Given the description of an element on the screen output the (x, y) to click on. 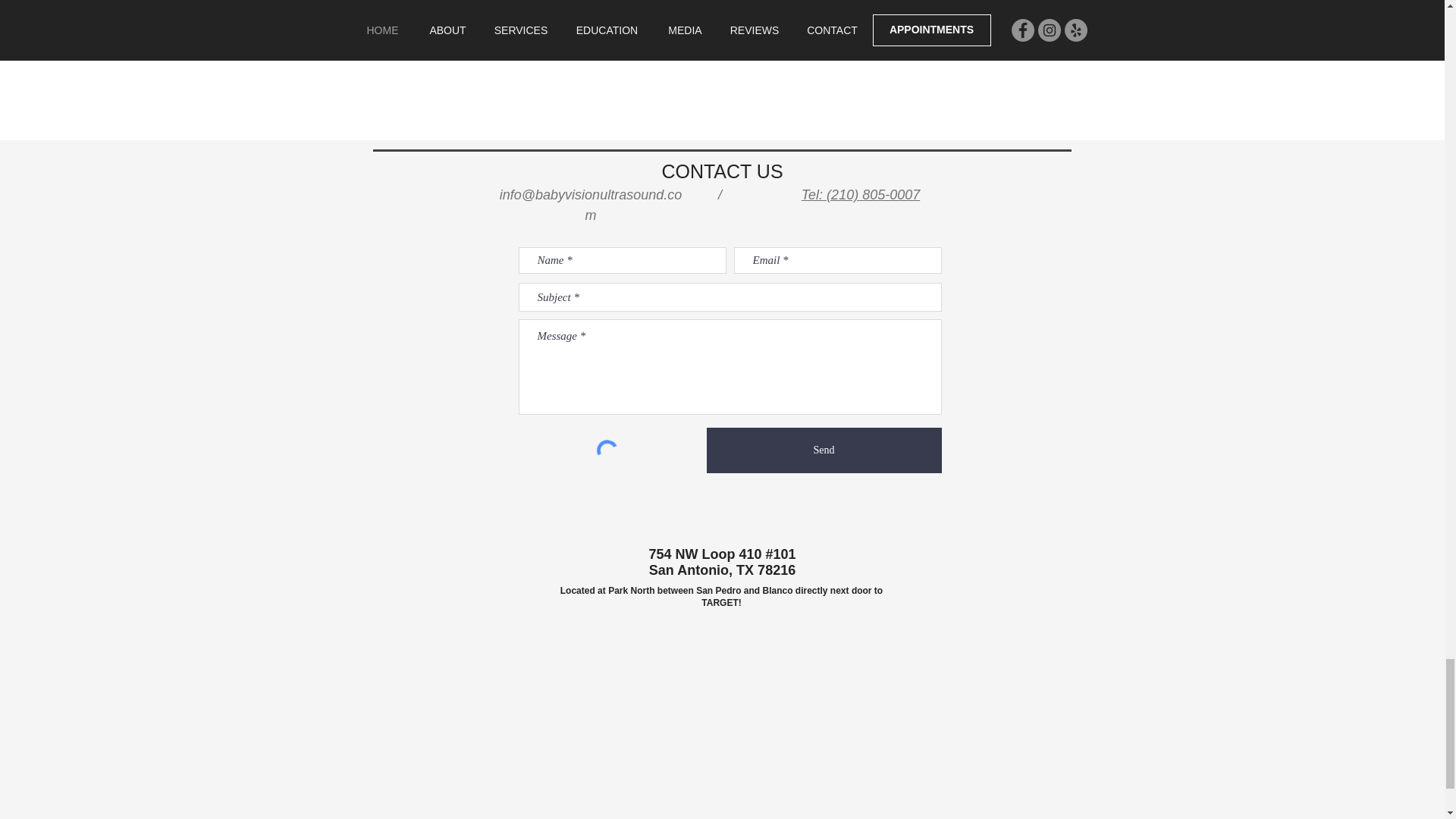
External YouTube (727, 70)
Send (824, 450)
